Given the description of an element on the screen output the (x, y) to click on. 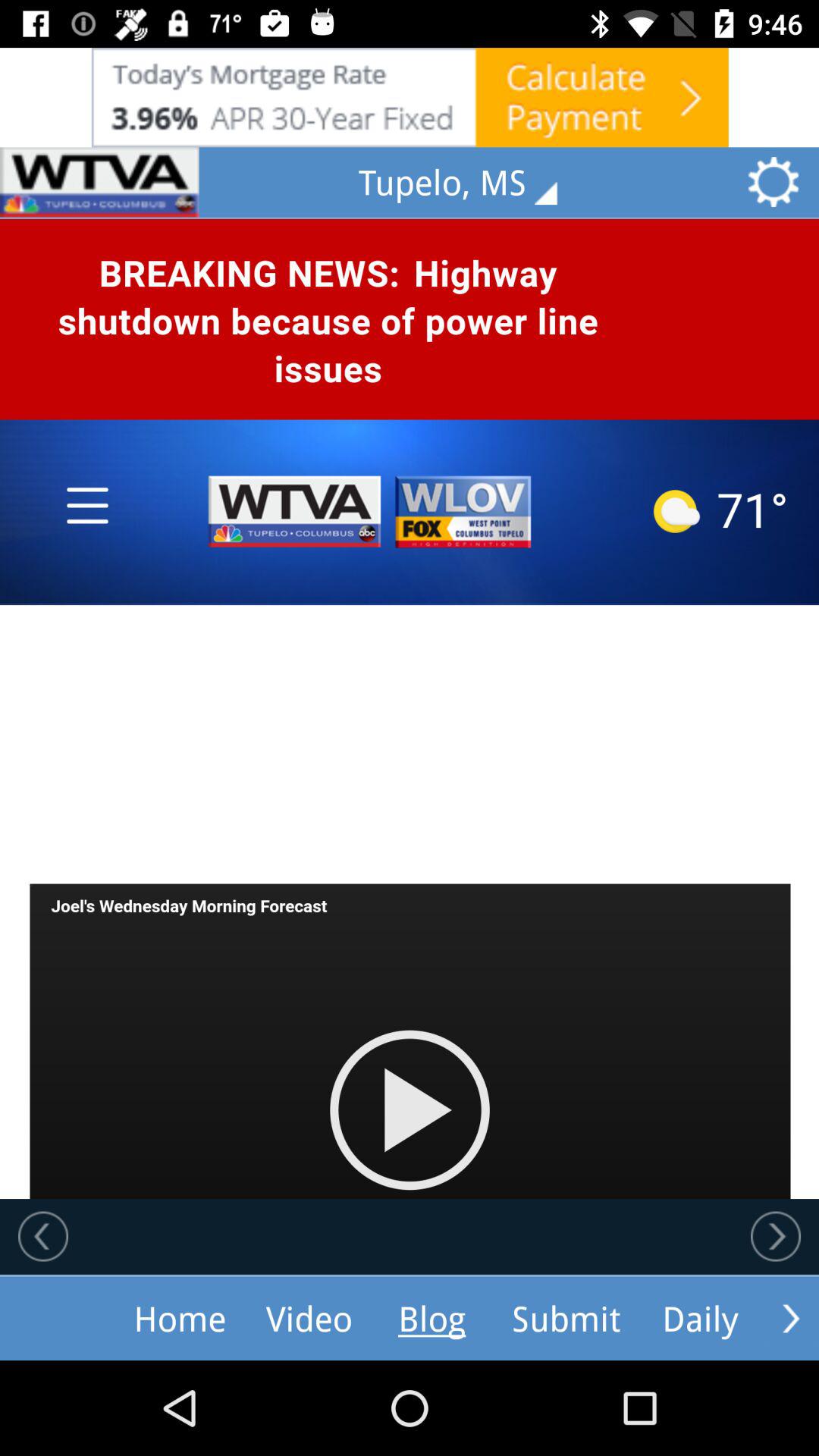
go to advertisement (409, 97)
